Given the description of an element on the screen output the (x, y) to click on. 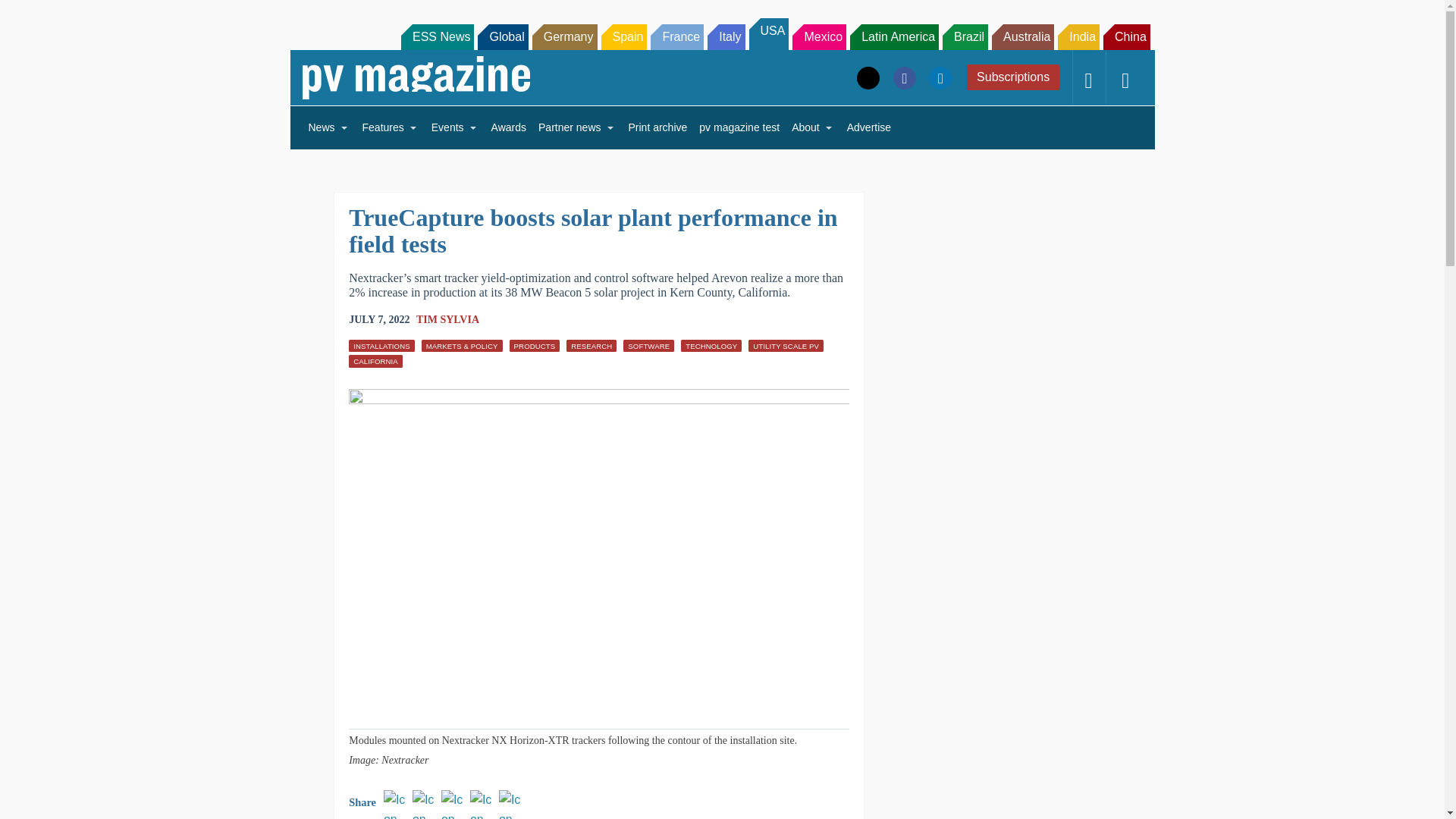
Global (502, 36)
India (1078, 36)
Latin America (894, 36)
pv magazine - Photovoltaics Markets and Technology (415, 77)
Thursday, July 7, 2022, 12:12 pm (379, 320)
France (676, 36)
Mexico (818, 36)
Italy (725, 36)
Brazil (965, 36)
Search (32, 15)
